Given the description of an element on the screen output the (x, y) to click on. 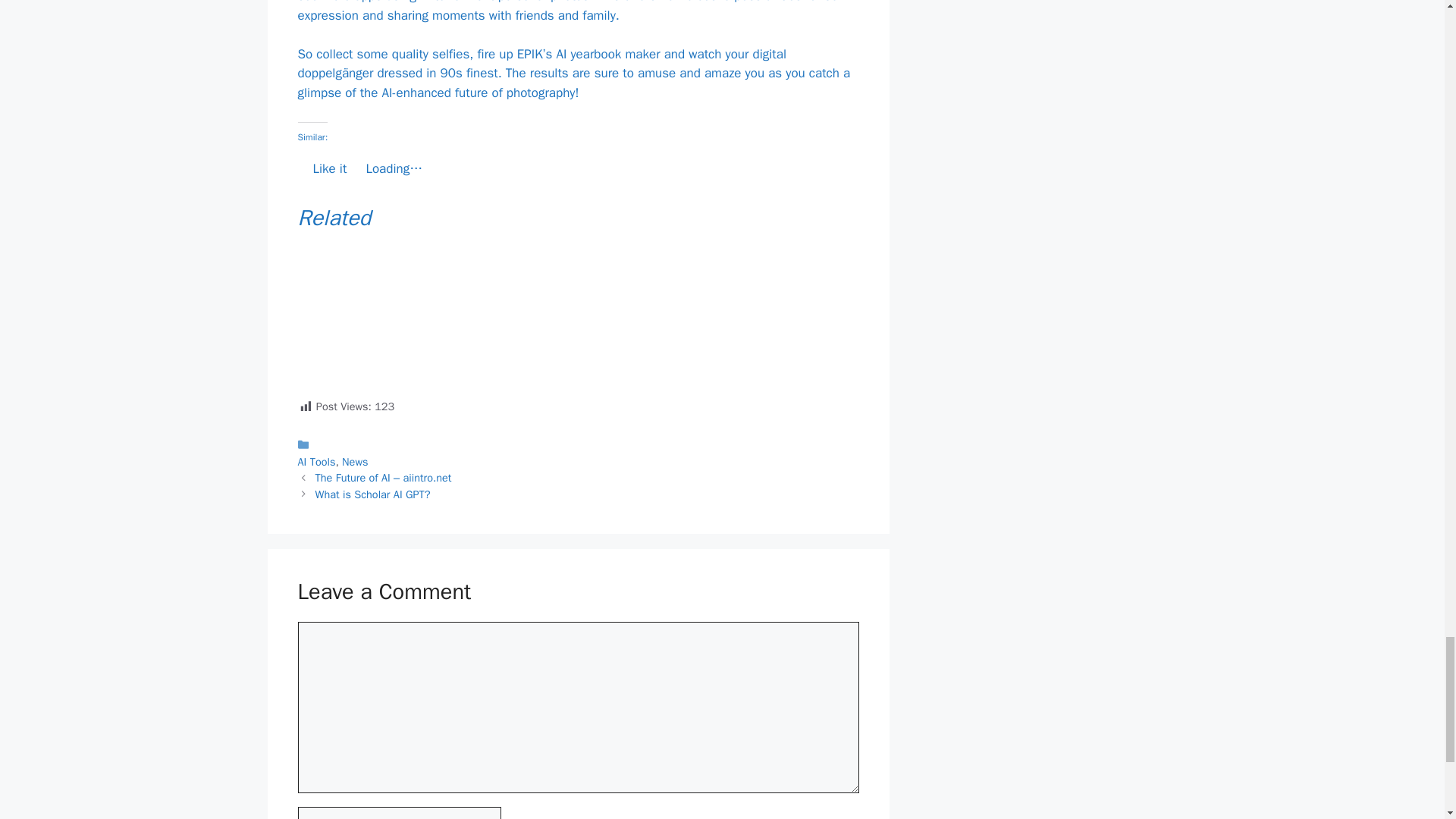
Categories (578, 452)
Related (578, 218)
Post Views: 123 (578, 332)
AI Tools (315, 461)
